Given the description of an element on the screen output the (x, y) to click on. 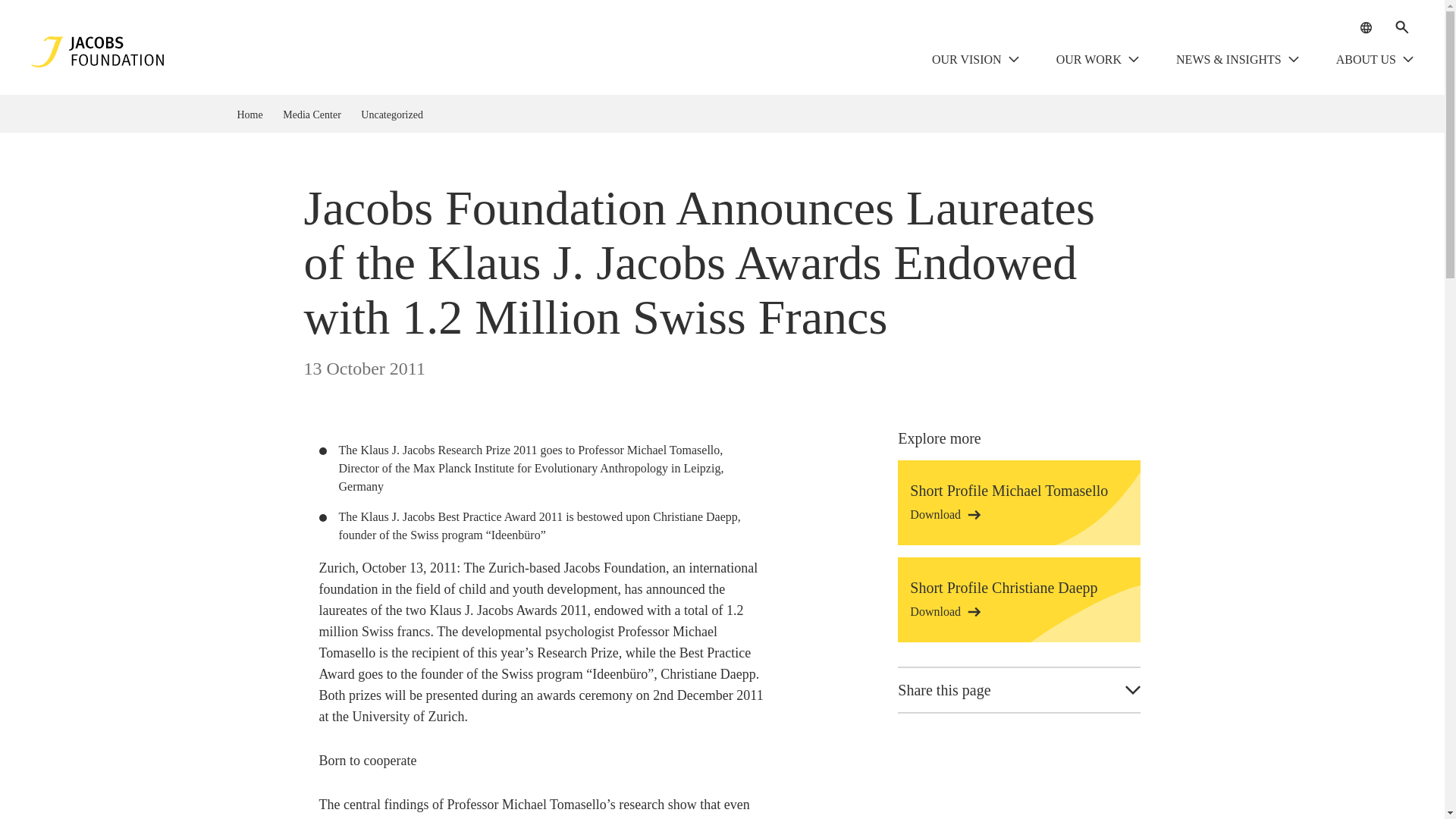
OUR WORK (1098, 59)
Search Open (1401, 27)
OUR VISION (975, 59)
Uncategorized (398, 116)
Home (255, 116)
ABOUT US (1374, 59)
Media Center (318, 116)
